Given the description of an element on the screen output the (x, y) to click on. 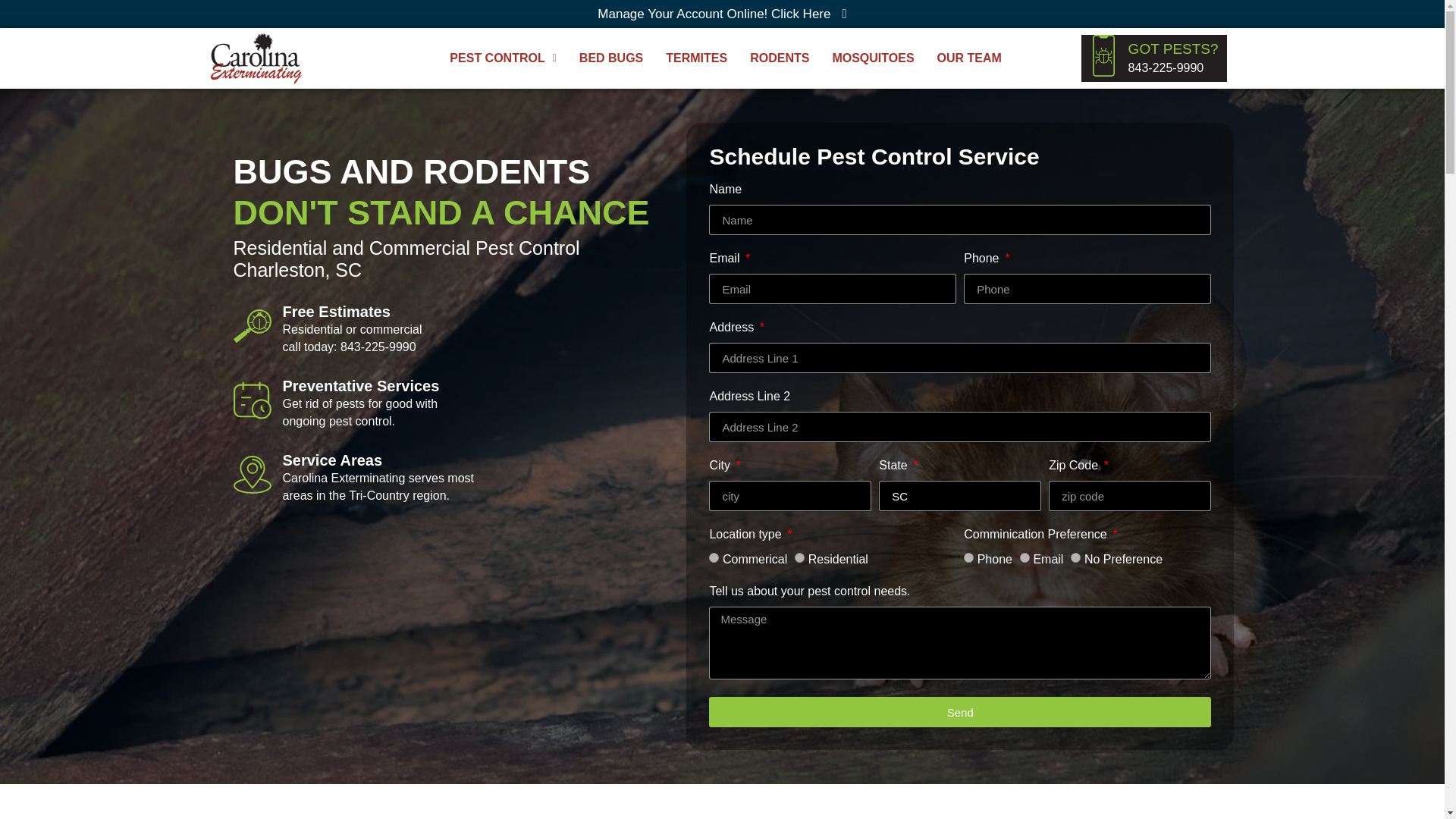
TERMITES (695, 58)
BED BUGS (610, 58)
SC (960, 495)
Phone (968, 557)
No Preference (1075, 557)
MOSQUITOES (872, 58)
Residential (799, 557)
RODENTS (779, 58)
Email (1024, 557)
OUR TEAM (969, 58)
Commerical (714, 557)
GOT PESTS? (1173, 48)
Manage Your Account Online! Click Here (721, 13)
PEST CONTROL (502, 58)
